Given the description of an element on the screen output the (x, y) to click on. 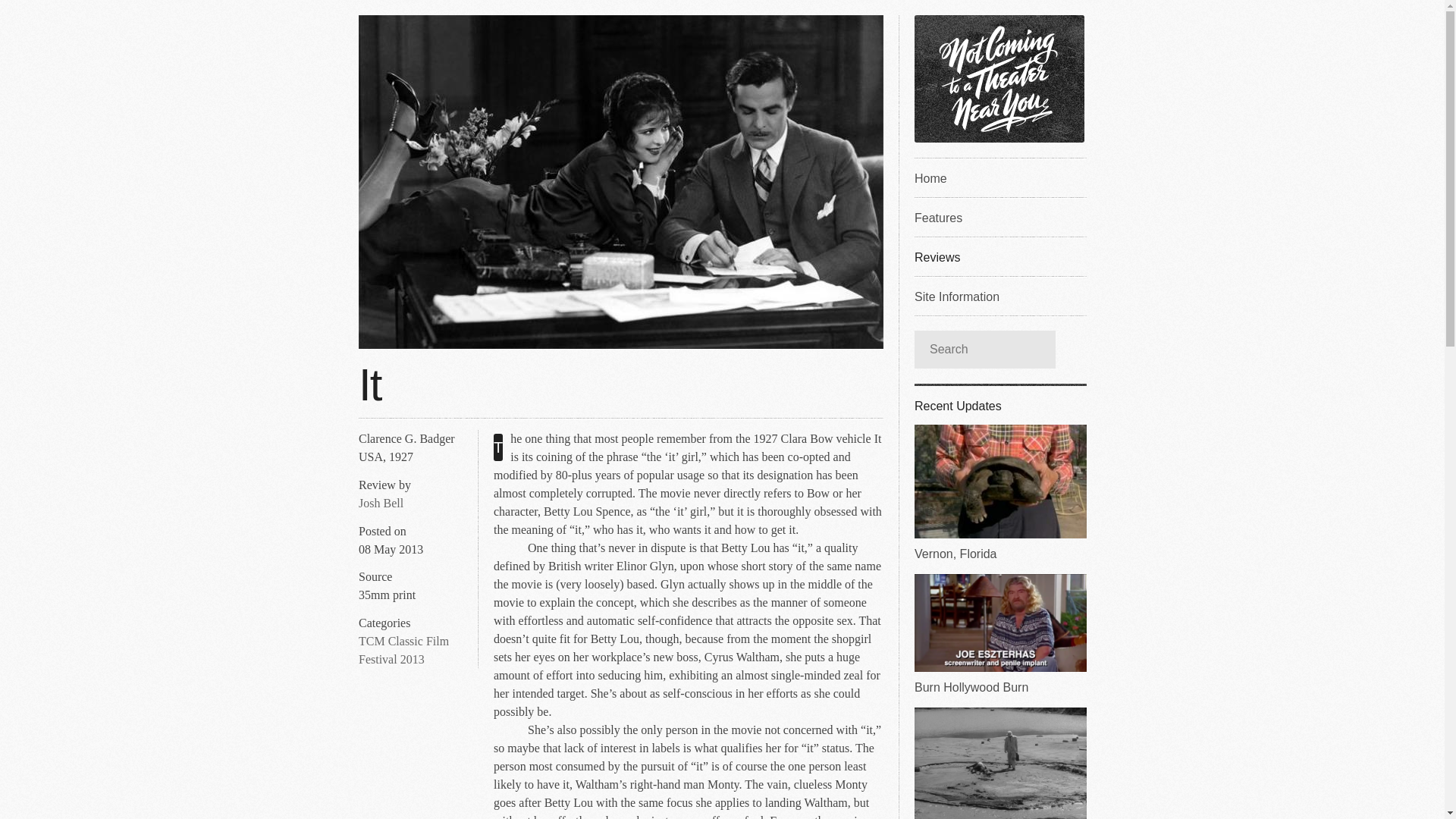
Reviews (1000, 256)
Josh Bell (380, 503)
Site Information (1000, 295)
Site Index (1000, 177)
Reviews (1000, 256)
Features (1000, 216)
Vernon, Florida (1000, 493)
Home (1000, 177)
Features (1000, 216)
Pitfall (1000, 763)
TCM Classic Film Festival 2013 (403, 650)
Site Information (1000, 295)
Burn Hollywood Burn (1000, 634)
